Given the description of an element on the screen output the (x, y) to click on. 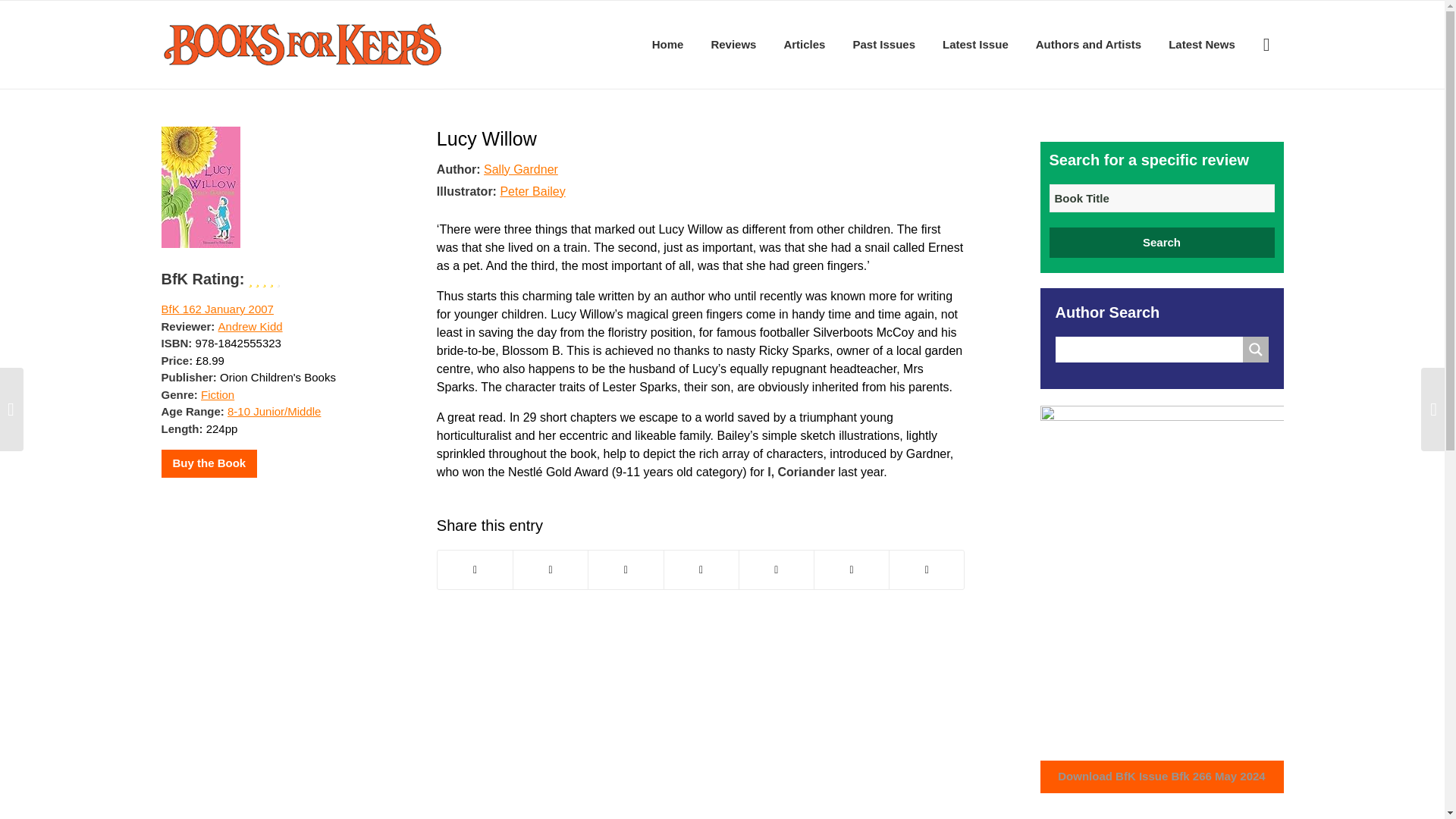
Search (1162, 242)
Lucy Willow (486, 138)
Past Issues (883, 44)
Andrew Kidd (250, 326)
BfK 162 January 2007 (216, 308)
Buy the Book (208, 463)
Search (1162, 242)
Fiction (217, 394)
Authors and Artists (1088, 44)
Download BfK Issue Bfk 266 May 2024 (1162, 776)
Latest Issue (975, 44)
Peter Bailey (531, 191)
Sally Gardner (520, 168)
Latest News (1201, 44)
Permanent Link: Lucy Willow (486, 138)
